Given the description of an element on the screen output the (x, y) to click on. 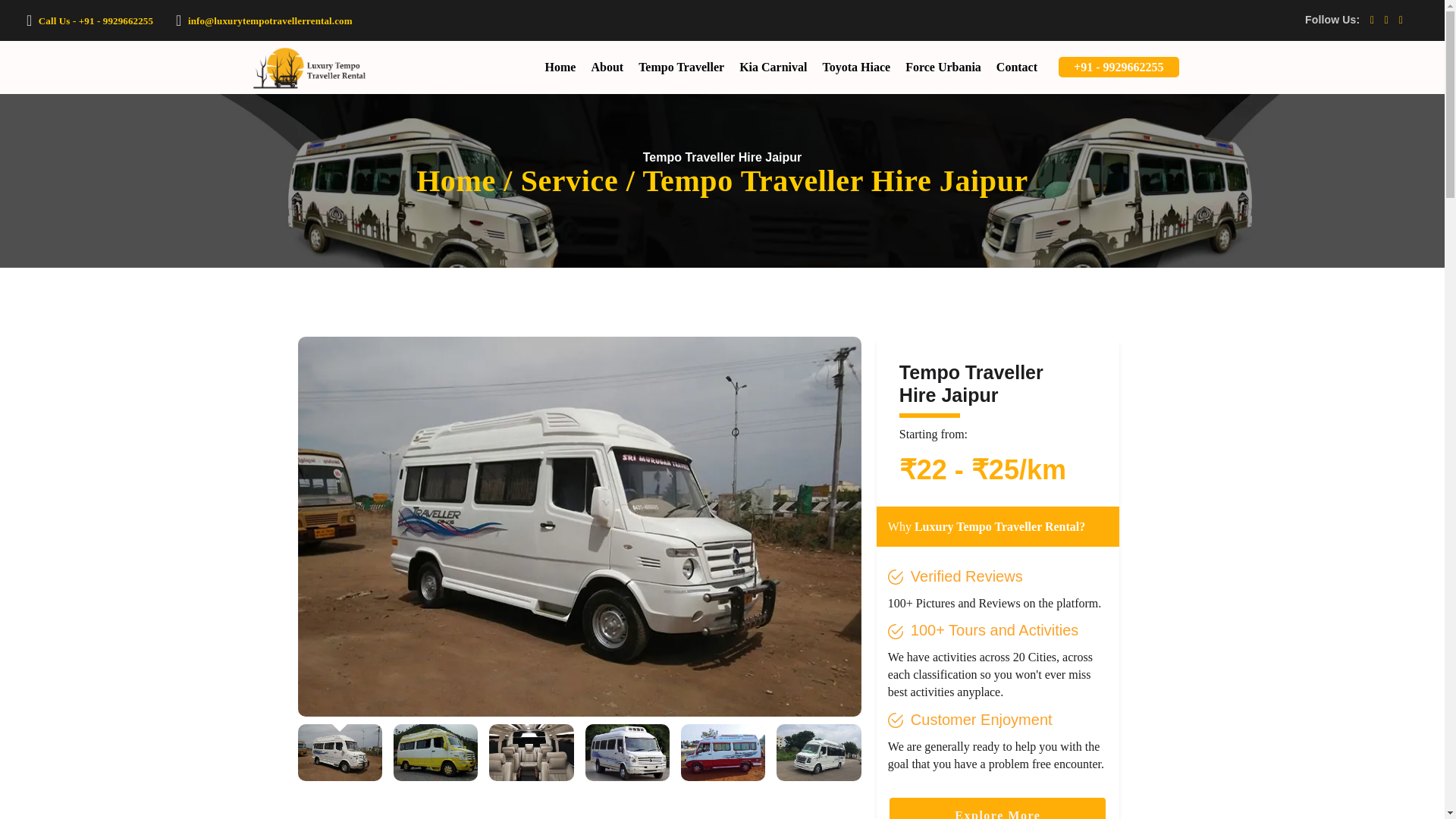
Force Urbania (943, 67)
Toyota Hiace (856, 67)
Kia Carnival (772, 67)
Tempo Traveller (681, 67)
Home (560, 67)
About (606, 67)
Explore More (997, 808)
Contact (1016, 67)
